Given the description of an element on the screen output the (x, y) to click on. 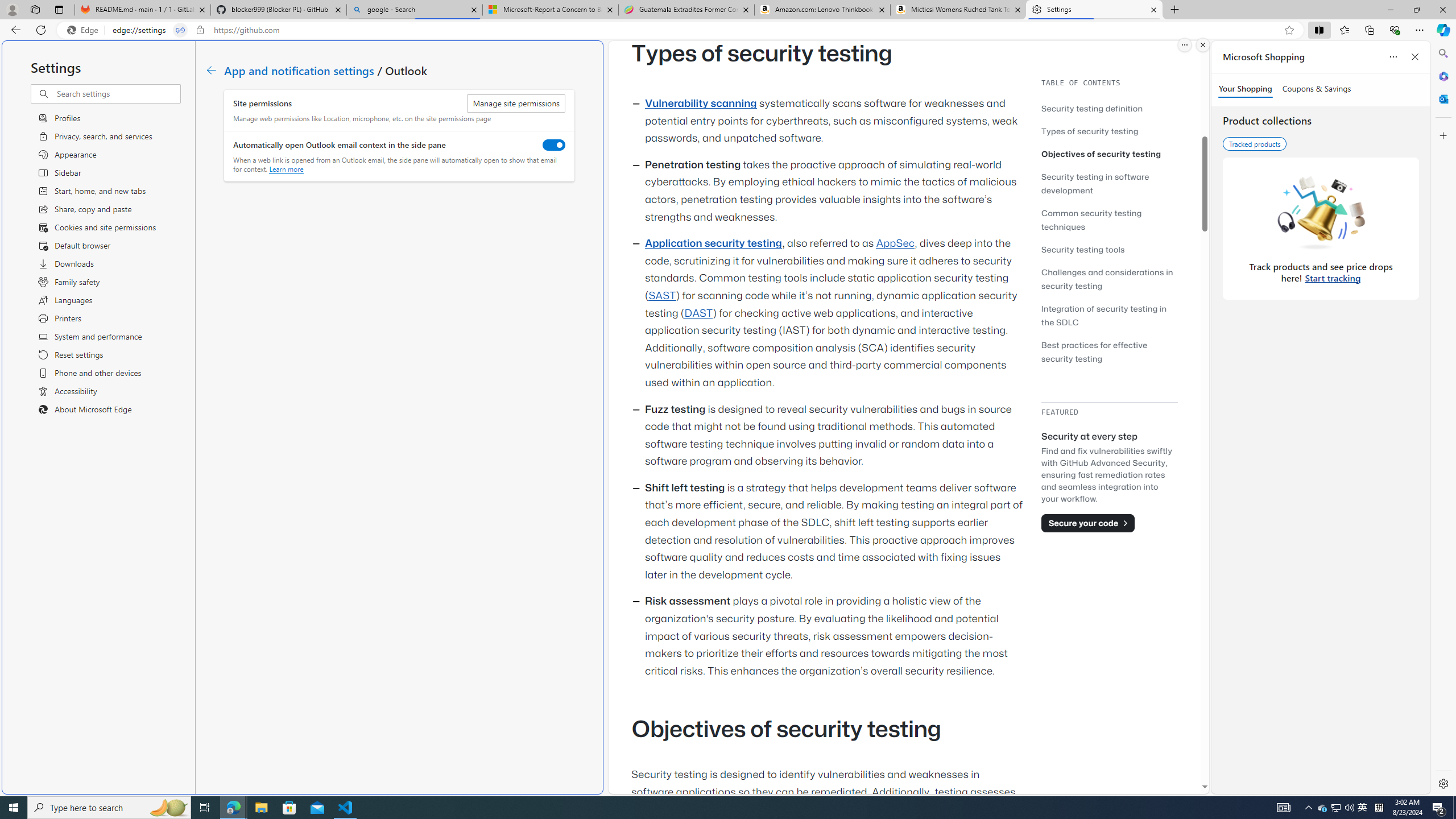
Security testing tools (1083, 248)
Class: c01182 (210, 70)
Best practices for effective security testing (1094, 351)
Address and search bar (695, 29)
Security testing definition (1091, 108)
More options. (1183, 45)
Common security testing techniques (1091, 219)
